Given the description of an element on the screen output the (x, y) to click on. 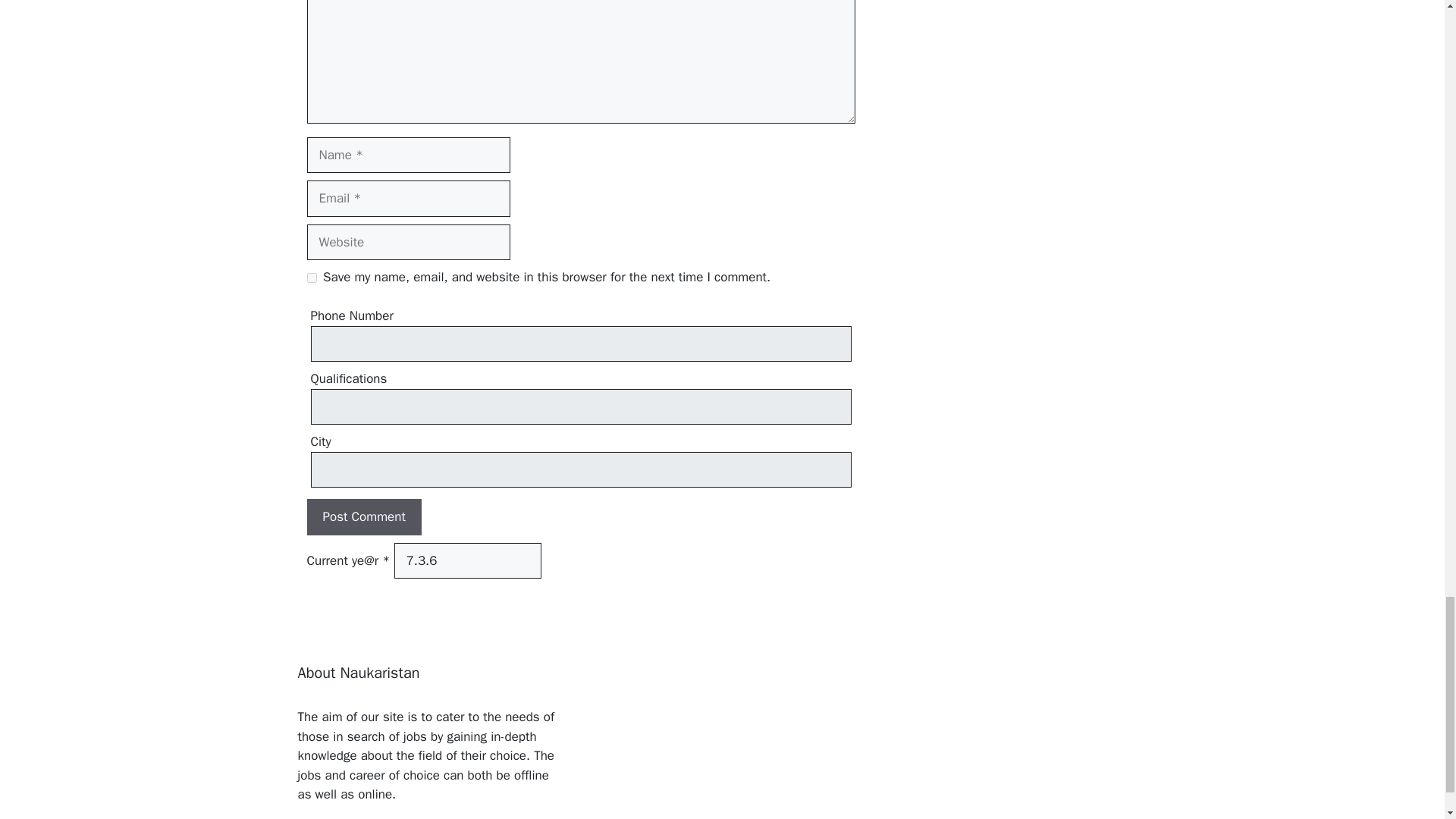
7.3.6 (467, 560)
yes (310, 277)
Post Comment (362, 516)
Post Comment (362, 516)
